Given the description of an element on the screen output the (x, y) to click on. 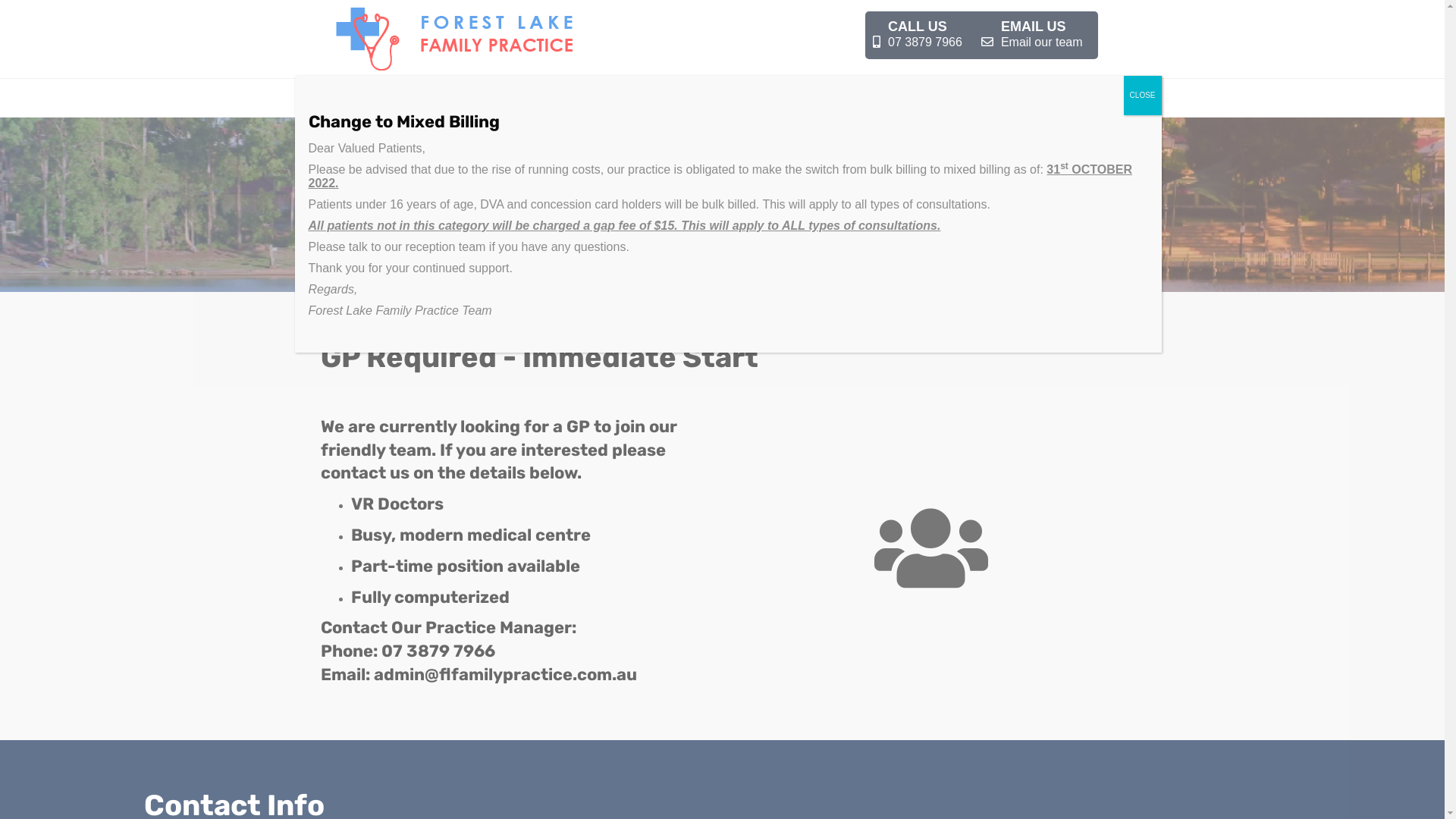
OUR TEAM Element type: text (650, 97)
SERVICES Element type: text (417, 97)
CONTACT Element type: text (859, 97)
BILLING Element type: text (587, 97)
JOIN OUR TEAM Element type: text (782, 97)
HOME Element type: text (359, 97)
Email our team Element type: text (1041, 41)
COVID-19 VACCINES Element type: text (503, 97)
ABOUT Element type: text (710, 97)
CLOSE Element type: text (1142, 95)
07 3879 7966 Element type: text (925, 41)
